Given the description of an element on the screen output the (x, y) to click on. 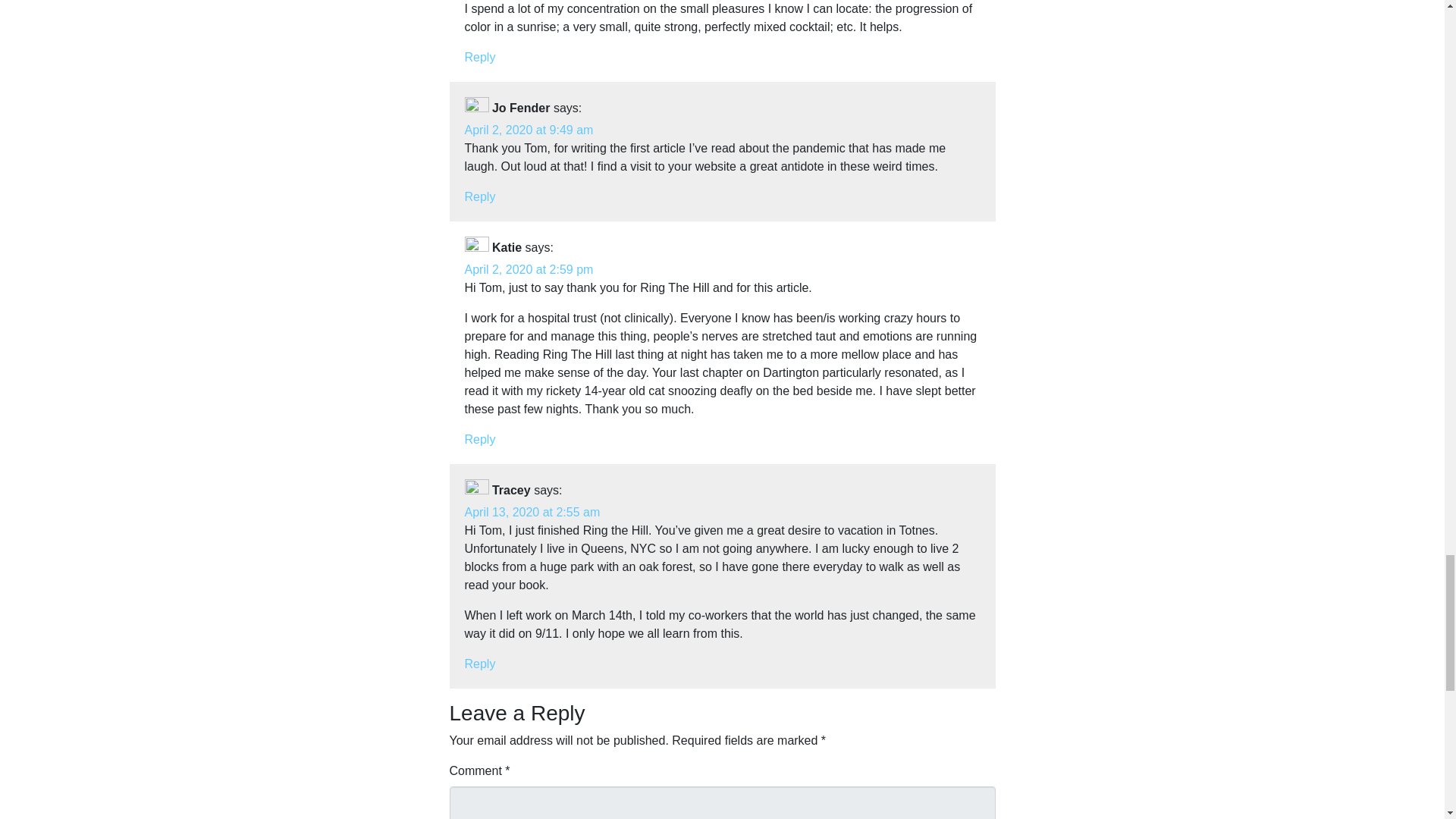
April 2, 2020 at 2:59 pm (528, 269)
Reply (479, 196)
Reply (479, 56)
April 13, 2020 at 2:55 am (531, 512)
April 2, 2020 at 9:49 am (528, 129)
Reply (479, 663)
Reply (479, 439)
